Given the description of an element on the screen output the (x, y) to click on. 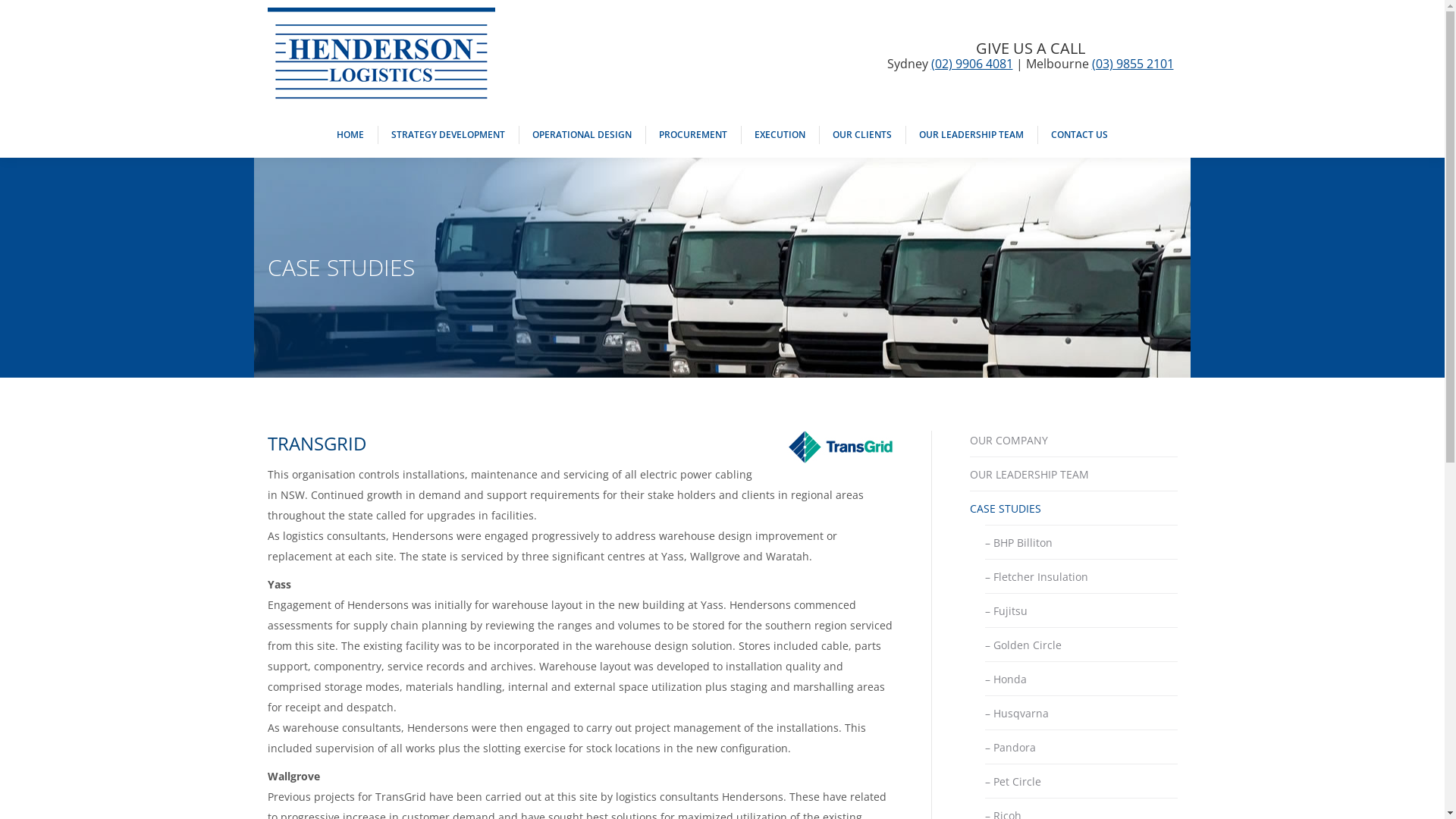
EXECUTION Element type: text (779, 134)
PROCUREMENT Element type: text (692, 134)
HOME Element type: text (350, 134)
OUR CLIENTS Element type: text (861, 134)
(02) 9906 4081 Element type: text (972, 63)
(03) 9855 2101 Element type: text (1132, 63)
OUR COMPANY Element type: text (1008, 439)
STRATEGY DEVELOPMENT Element type: text (448, 134)
OUR LEADERSHIP TEAM Element type: text (971, 134)
OUR LEADERSHIP TEAM Element type: text (1028, 473)
OPERATIONAL DESIGN Element type: text (581, 134)
CASE STUDIES Element type: text (1004, 507)
CONTACT US Element type: text (1079, 134)
